Given the description of an element on the screen output the (x, y) to click on. 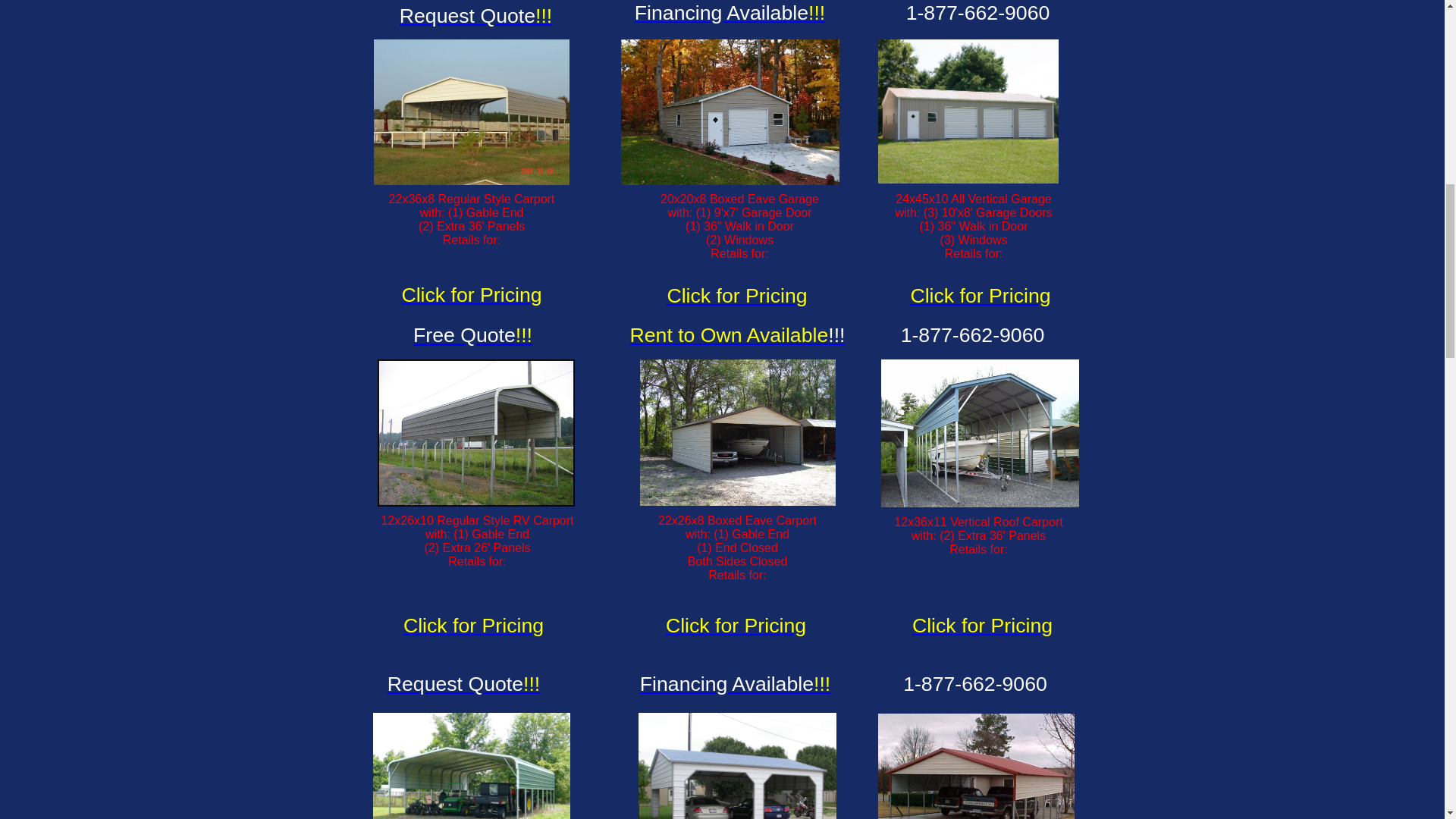
Click for Pricing (982, 625)
Click for Pricing (471, 294)
Click for Pricing (736, 295)
Request Quote!!! (475, 15)
Free Quote!!! (472, 333)
Financing Available!!! (729, 12)
Click for Pricing (473, 625)
Request Quote!!! (463, 683)
Click for Pricing (735, 625)
Click for Pricing (979, 295)
Rent to Own Available!!! (736, 334)
